Given the description of an element on the screen output the (x, y) to click on. 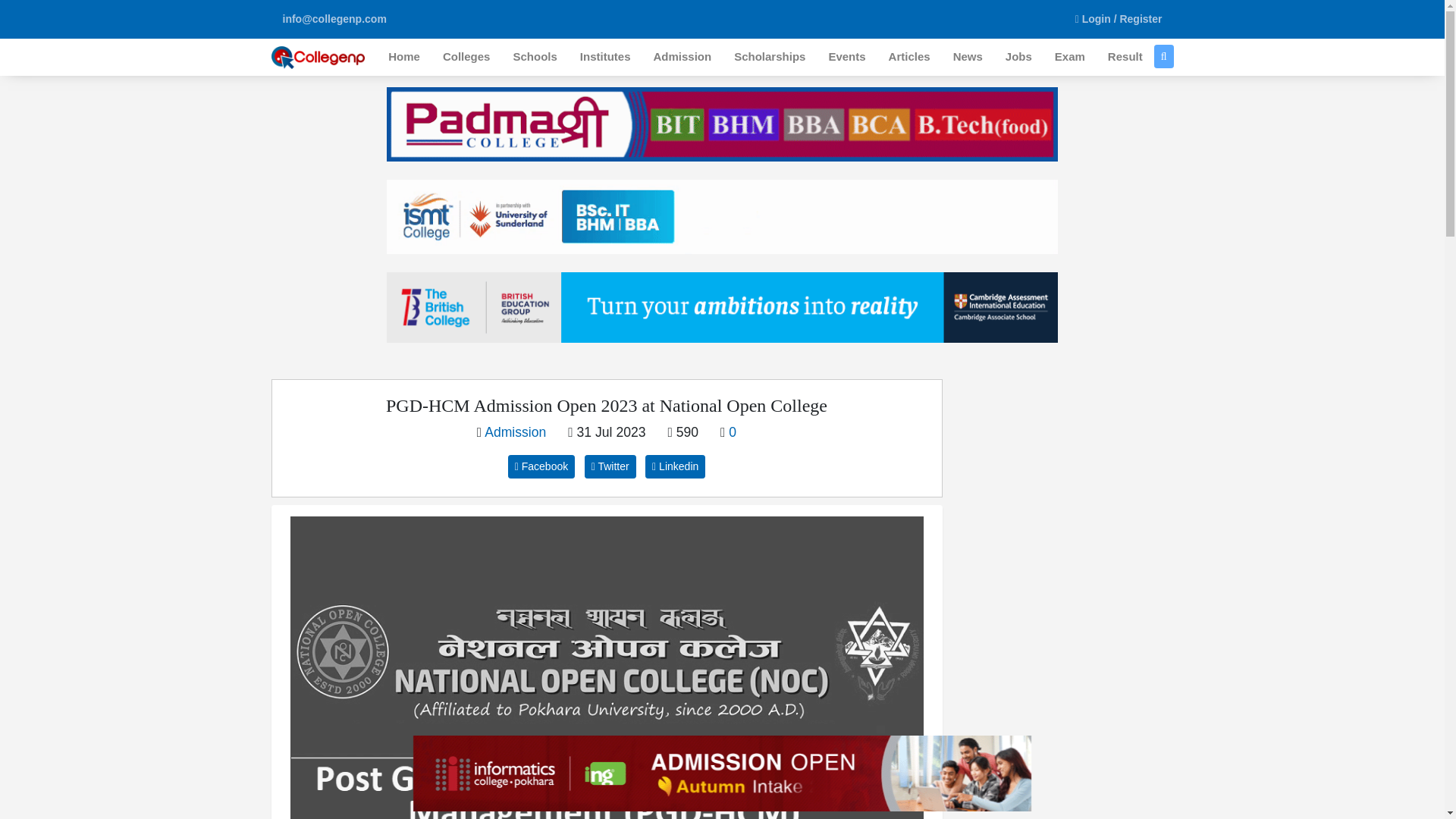
Schools (533, 57)
Admission (682, 57)
Admission (515, 432)
Colleges (466, 57)
Linkedin (674, 466)
CollegeNp.com (317, 57)
Institutes (605, 57)
Jobs (1018, 57)
Result (1125, 57)
Events (846, 57)
Home (403, 57)
0 (732, 432)
News (968, 57)
Twitter (610, 466)
Articles (909, 57)
